Given the description of an element on the screen output the (x, y) to click on. 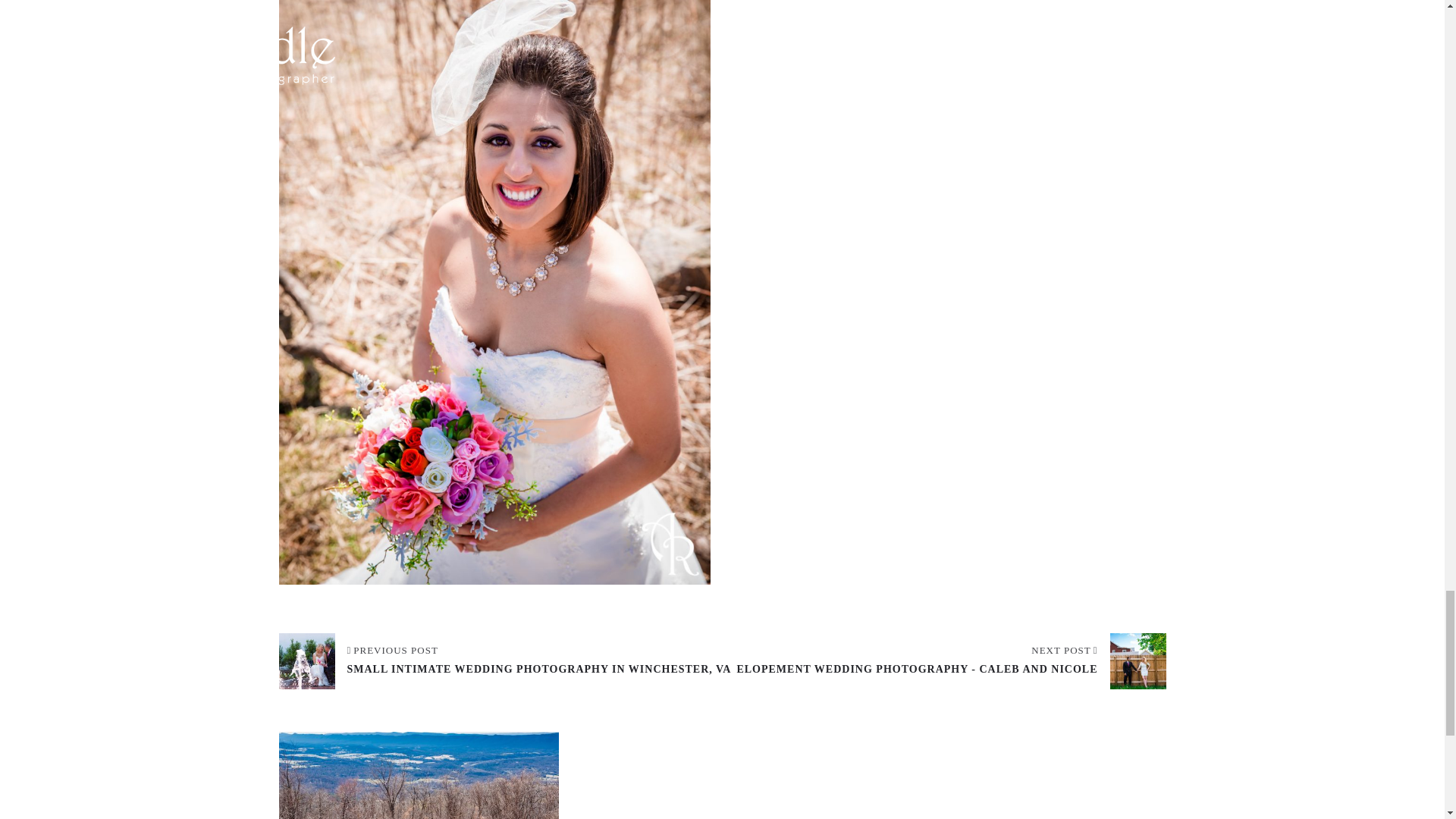
Elopement Wedding Photography - Caleb and Nicole (951, 659)
Small Intimate Wedding Photography in Winchester, VA (505, 659)
